Given the description of an element on the screen output the (x, y) to click on. 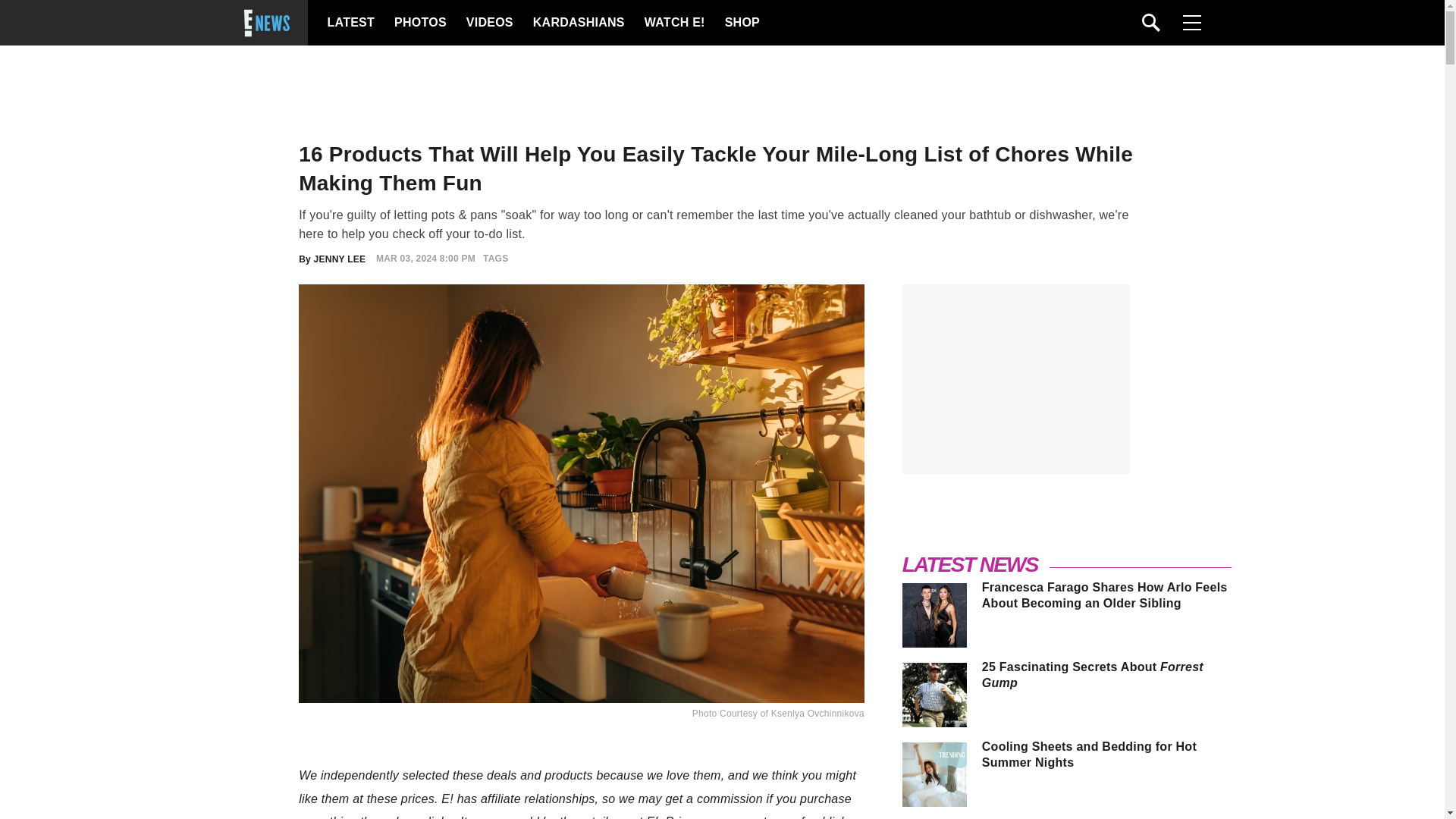
PHOTOS (419, 22)
WATCH E! (673, 22)
JENNY LEE (340, 258)
SHOP (741, 22)
LATEST (350, 22)
KARDASHIANS (577, 22)
VIDEOS (488, 22)
